Given the description of an element on the screen output the (x, y) to click on. 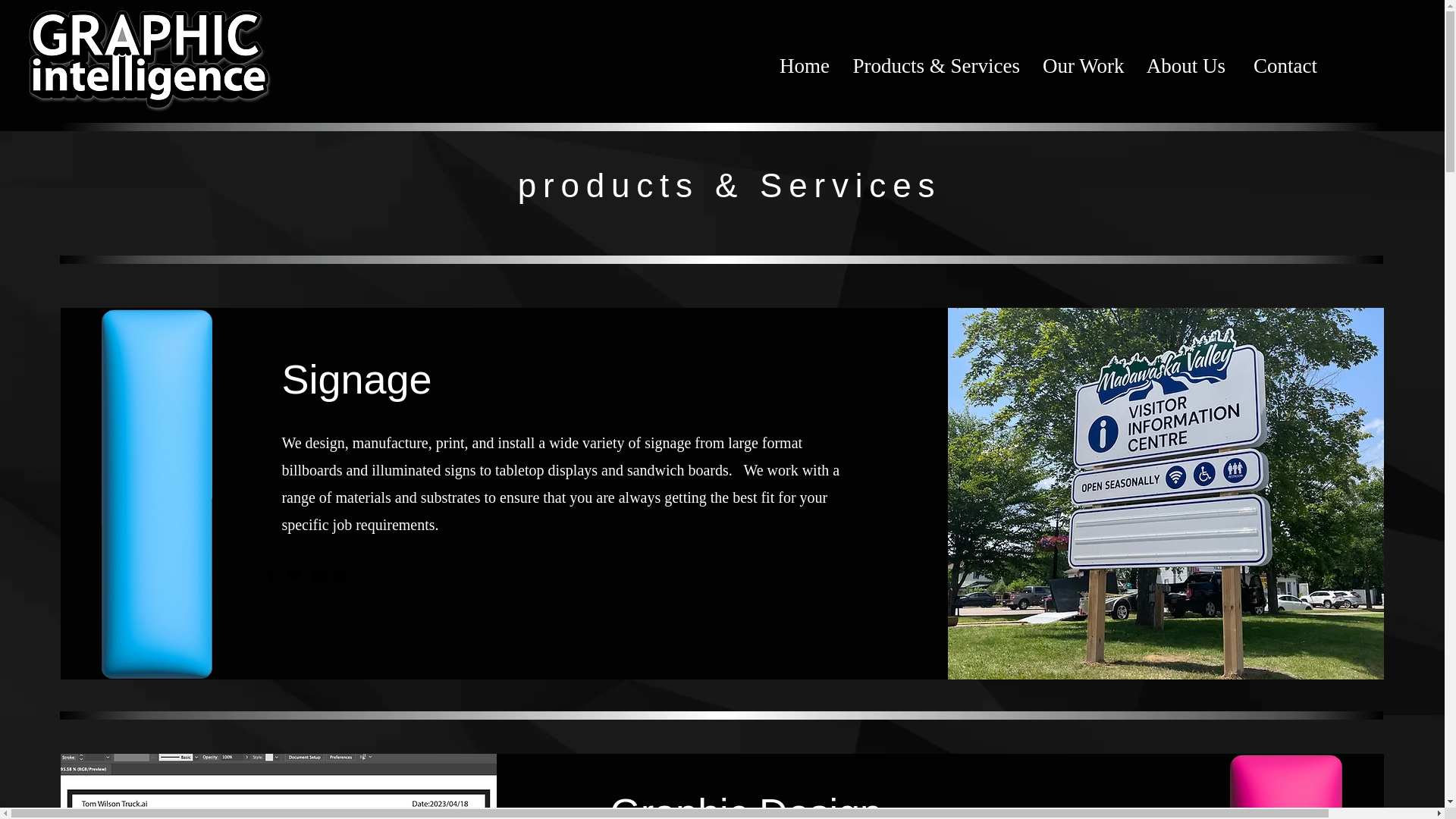
Contact (1281, 66)
About Us (1185, 66)
Home (804, 66)
Our Work (1082, 66)
